Given the description of an element on the screen output the (x, y) to click on. 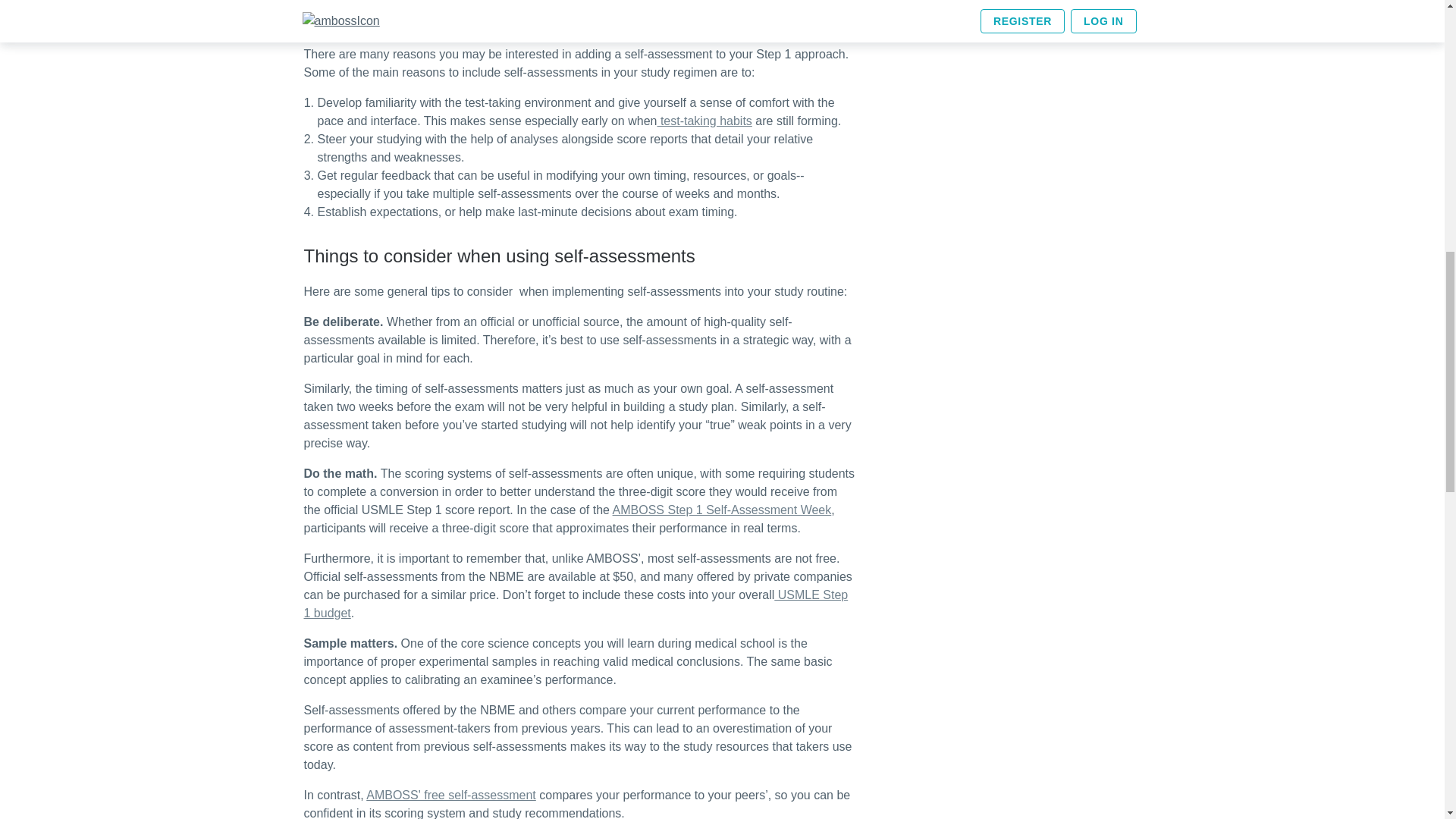
test-taking habits (703, 120)
AMBOSS' free self-assessment (450, 794)
USMLE Step 1 budget (574, 603)
AMBOSS Step 1 Self-Assessment Week (721, 509)
